Given the description of an element on the screen output the (x, y) to click on. 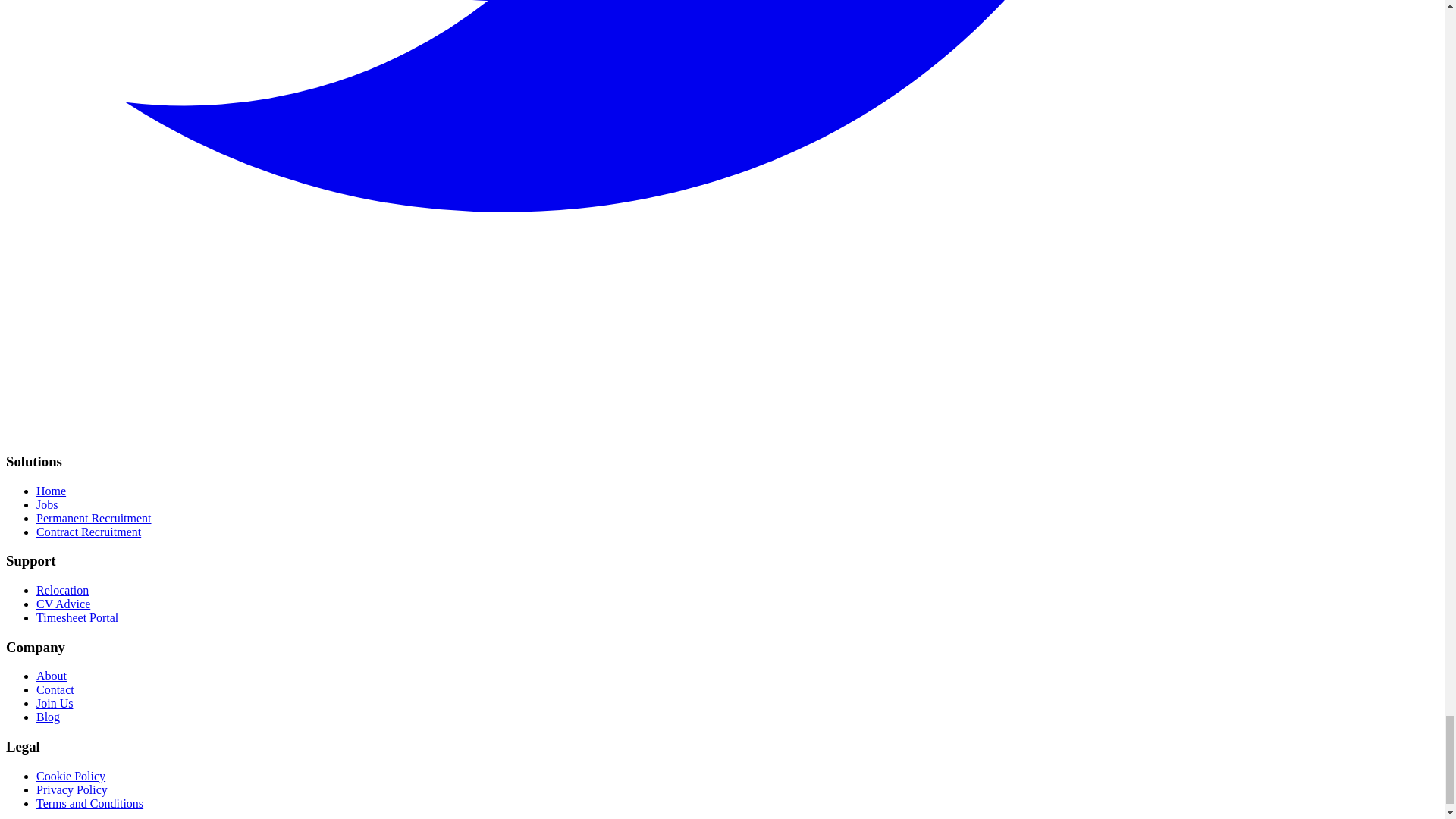
Privacy Policy (71, 789)
Contract Recruitment (88, 531)
Jobs (47, 504)
Contact (55, 689)
Blog (47, 716)
Timesheet Portal (76, 617)
Cookie Policy (70, 775)
Join Us (54, 703)
About (51, 675)
Relocation (62, 590)
Permanent Recruitment (93, 517)
Home (50, 490)
Terms and Conditions (89, 802)
CV Advice (63, 603)
